Given the description of an element on the screen output the (x, y) to click on. 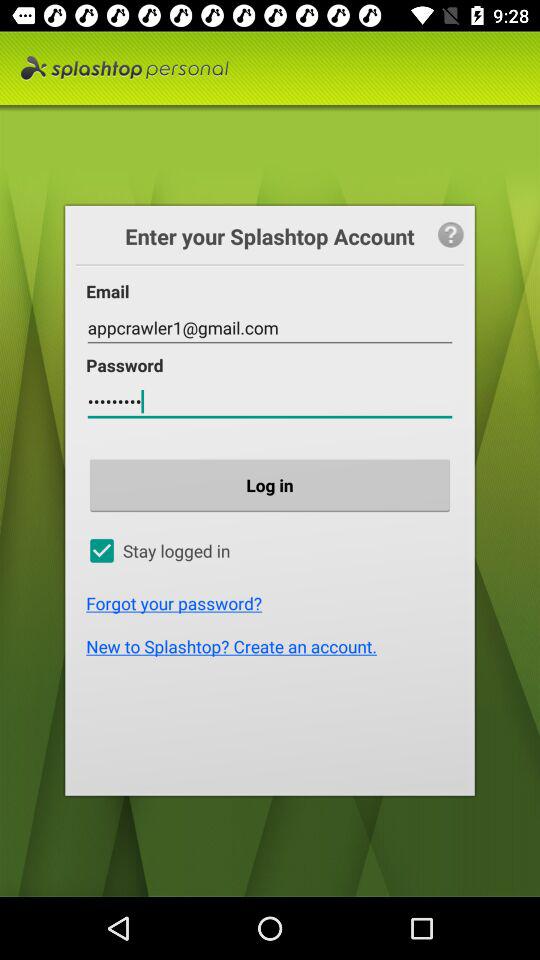
select the option below logged in (274, 603)
select the text below forgot your password (274, 645)
text field below the text password (270, 402)
click on the option which is below log in (272, 550)
click on the text which is below the email (270, 328)
